Given the description of an element on the screen output the (x, y) to click on. 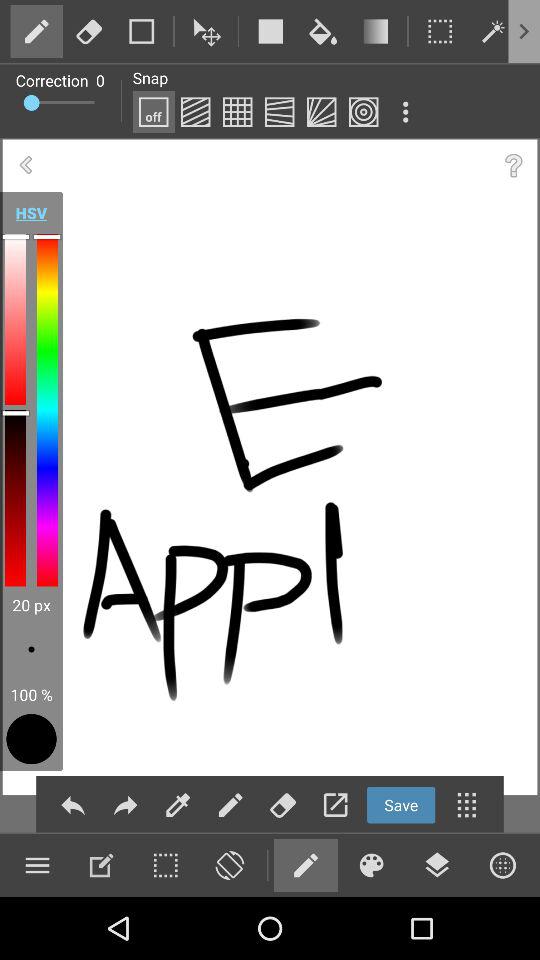
edit (492, 31)
